Given the description of an element on the screen output the (x, y) to click on. 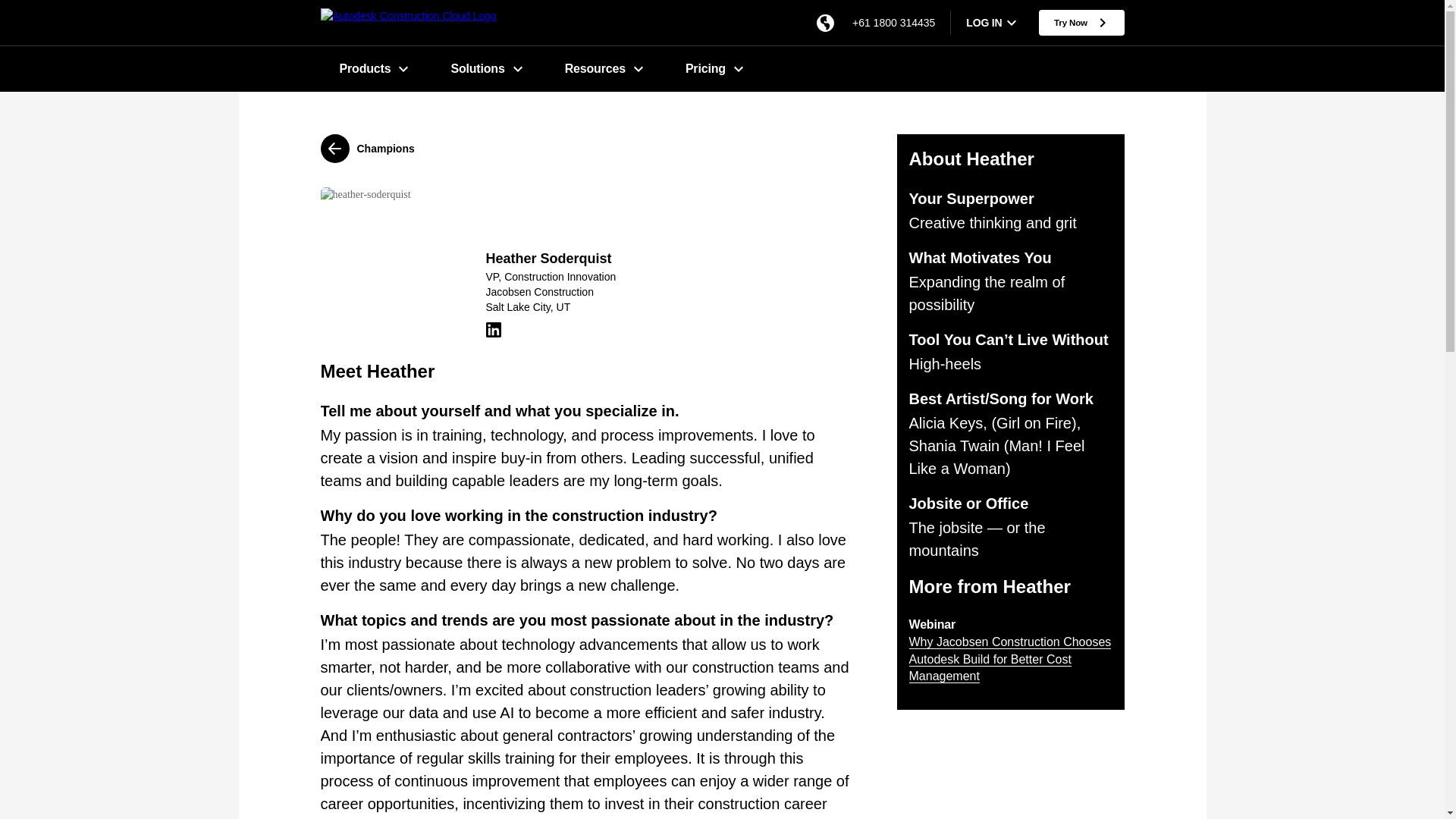
LOG IN (983, 22)
Champions (722, 68)
Try Now (586, 148)
LOG IN (1081, 21)
Try Now (992, 22)
